Given the description of an element on the screen output the (x, y) to click on. 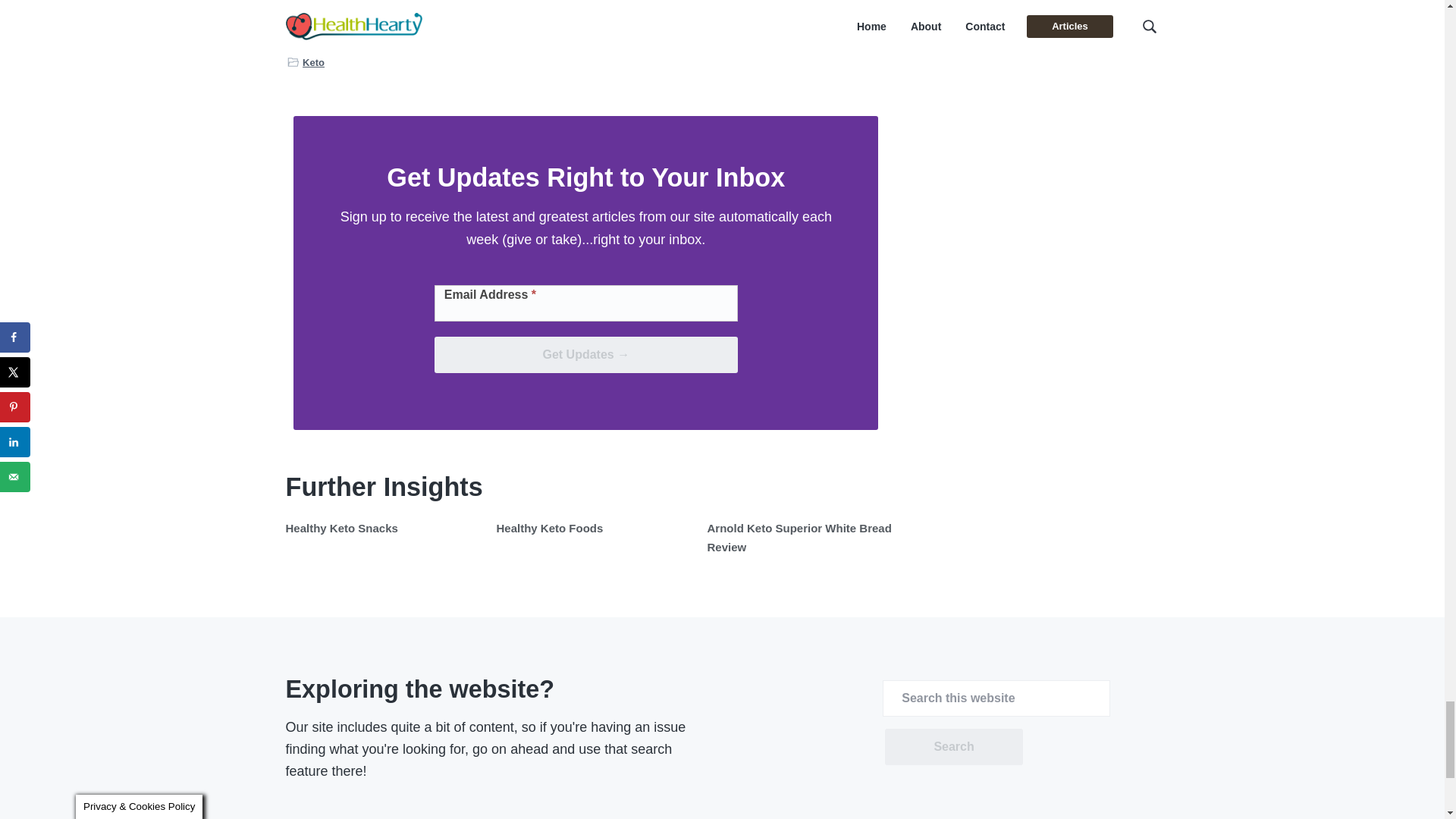
Arnold Keto Superior White Bread Review (798, 536)
Search (953, 746)
Keto (313, 62)
Search (953, 746)
Healthy Keto Foods (549, 527)
Healthy Keto Snacks (341, 527)
Search (953, 746)
